Given the description of an element on the screen output the (x, y) to click on. 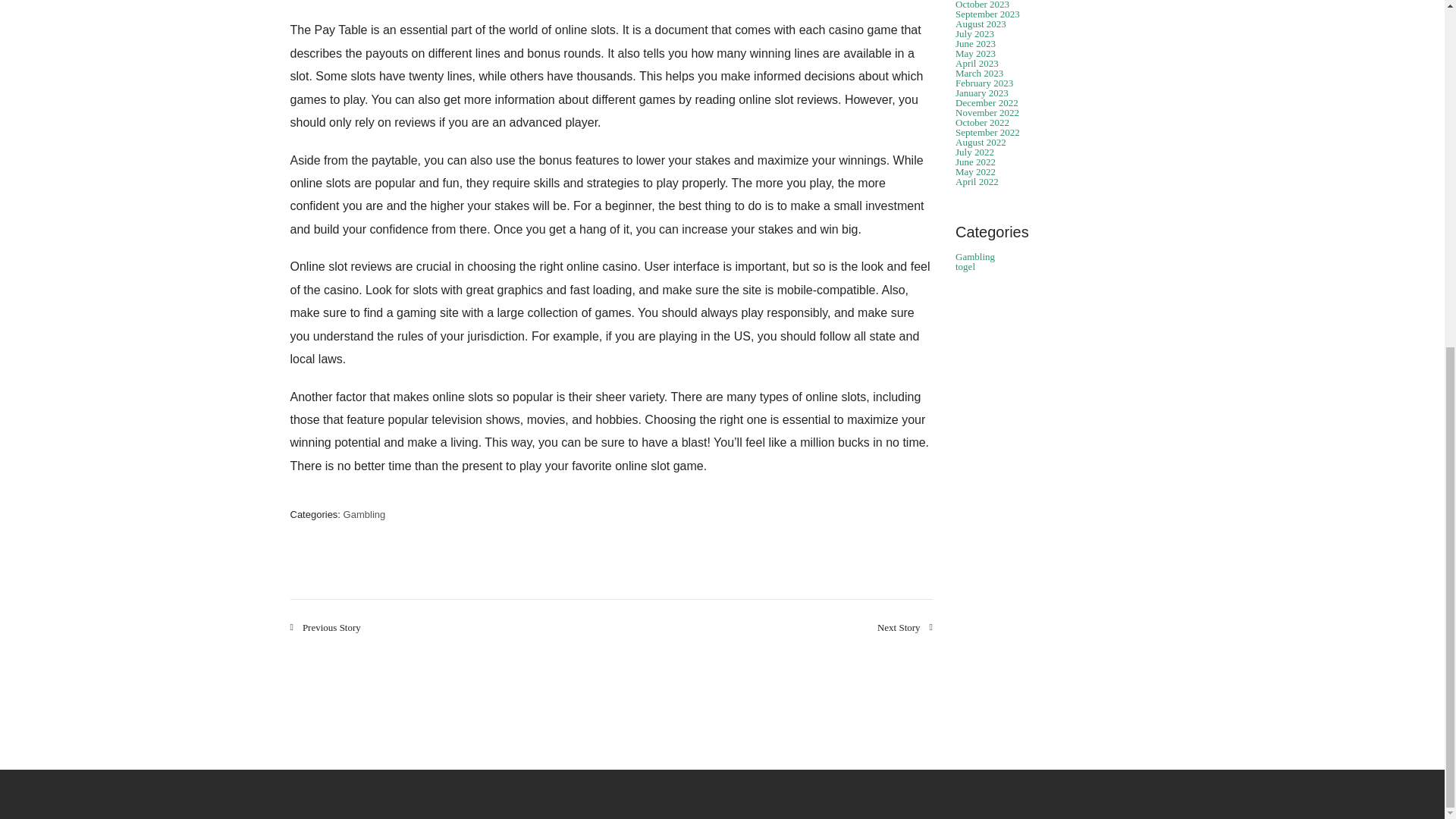
Gambling (364, 514)
October 2023 (982, 4)
April 2023 (976, 62)
March 2023 (979, 72)
October 2022 (982, 122)
Previous Story (324, 627)
September 2022 (987, 132)
August 2022 (980, 142)
June 2023 (975, 43)
May 2023 (975, 52)
January 2023 (982, 92)
December 2022 (986, 102)
Next Story (905, 627)
November 2022 (987, 112)
July 2023 (974, 33)
